Given the description of an element on the screen output the (x, y) to click on. 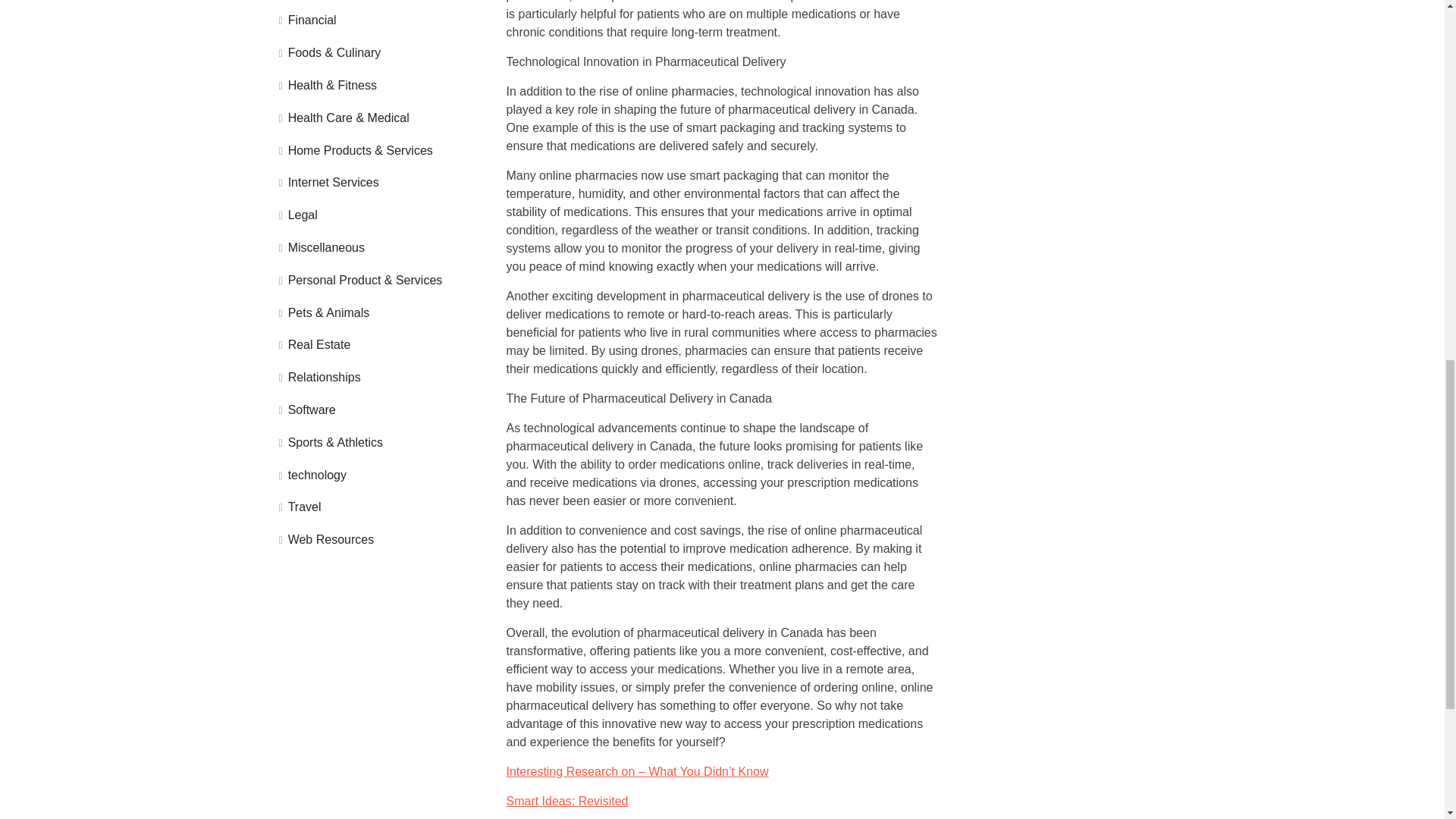
Smart Ideas: Revisited (567, 800)
